Given the description of an element on the screen output the (x, y) to click on. 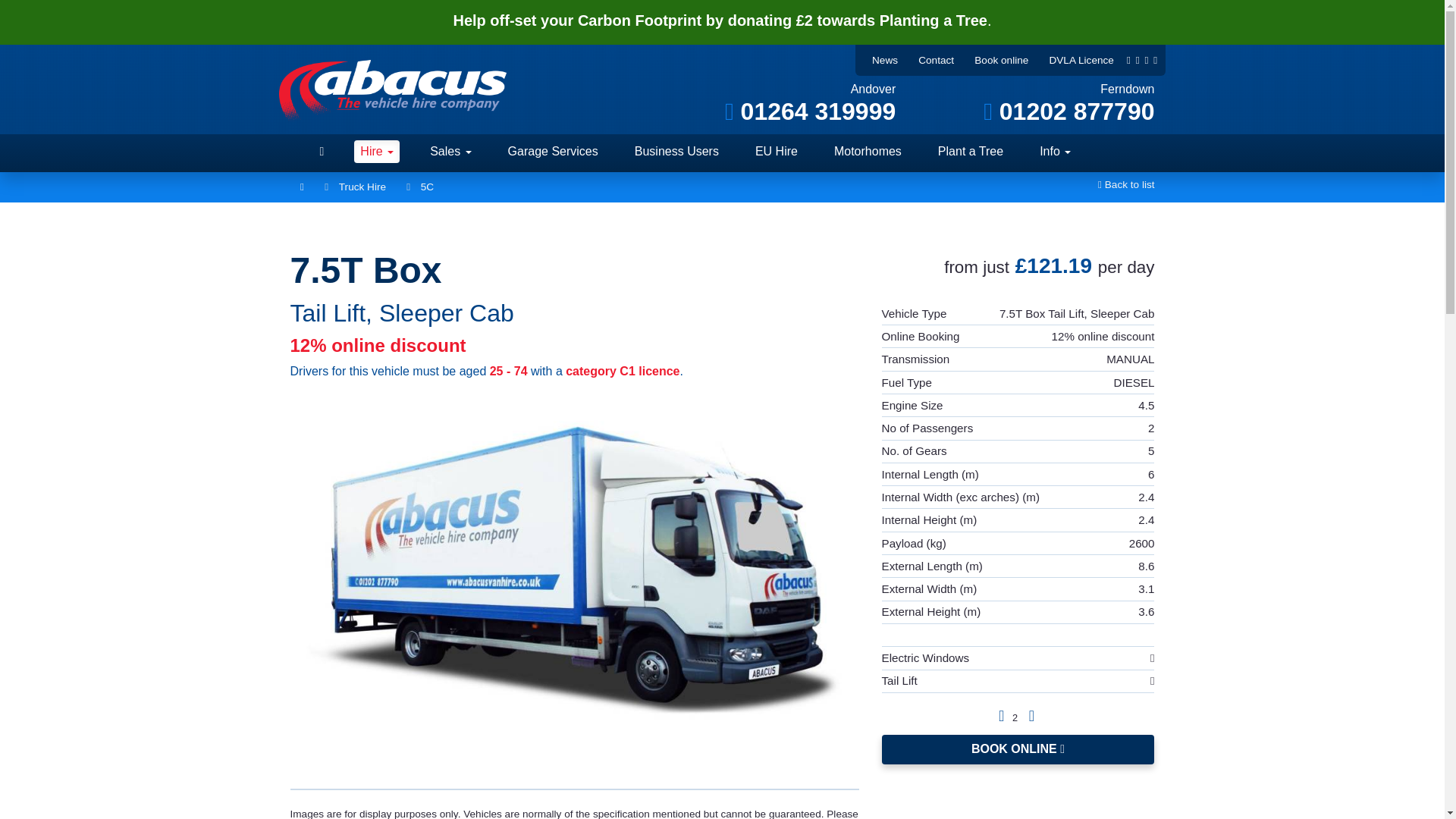
Contact (935, 60)
Manual (1031, 715)
News (885, 60)
01264 319999 (810, 111)
DVLA Licence (1080, 60)
Book online (1000, 60)
01202 877790 (1069, 111)
No. People (1003, 715)
